Given the description of an element on the screen output the (x, y) to click on. 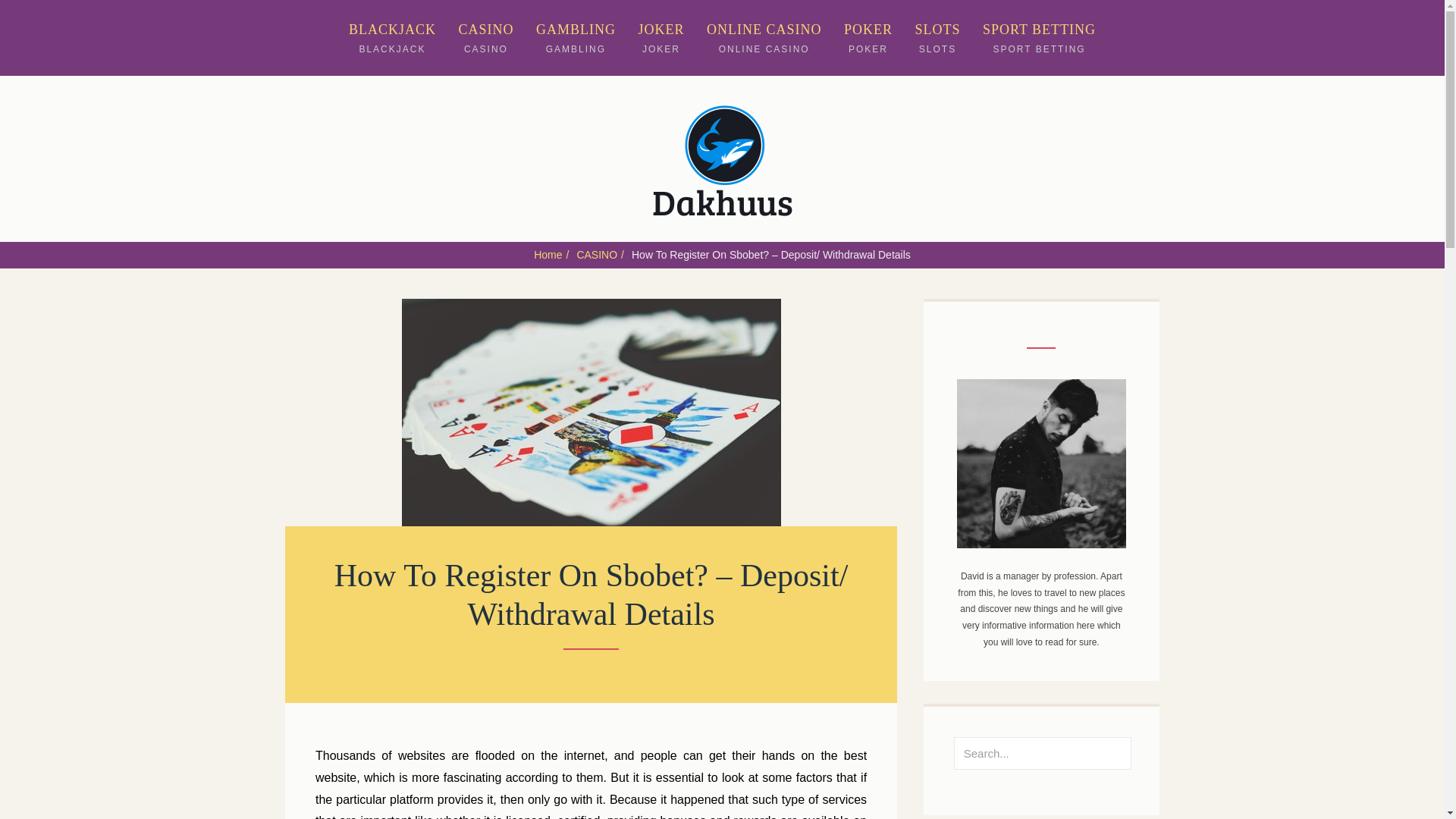
Search for: (1039, 38)
DAKHUUS (764, 38)
